Given the description of an element on the screen output the (x, y) to click on. 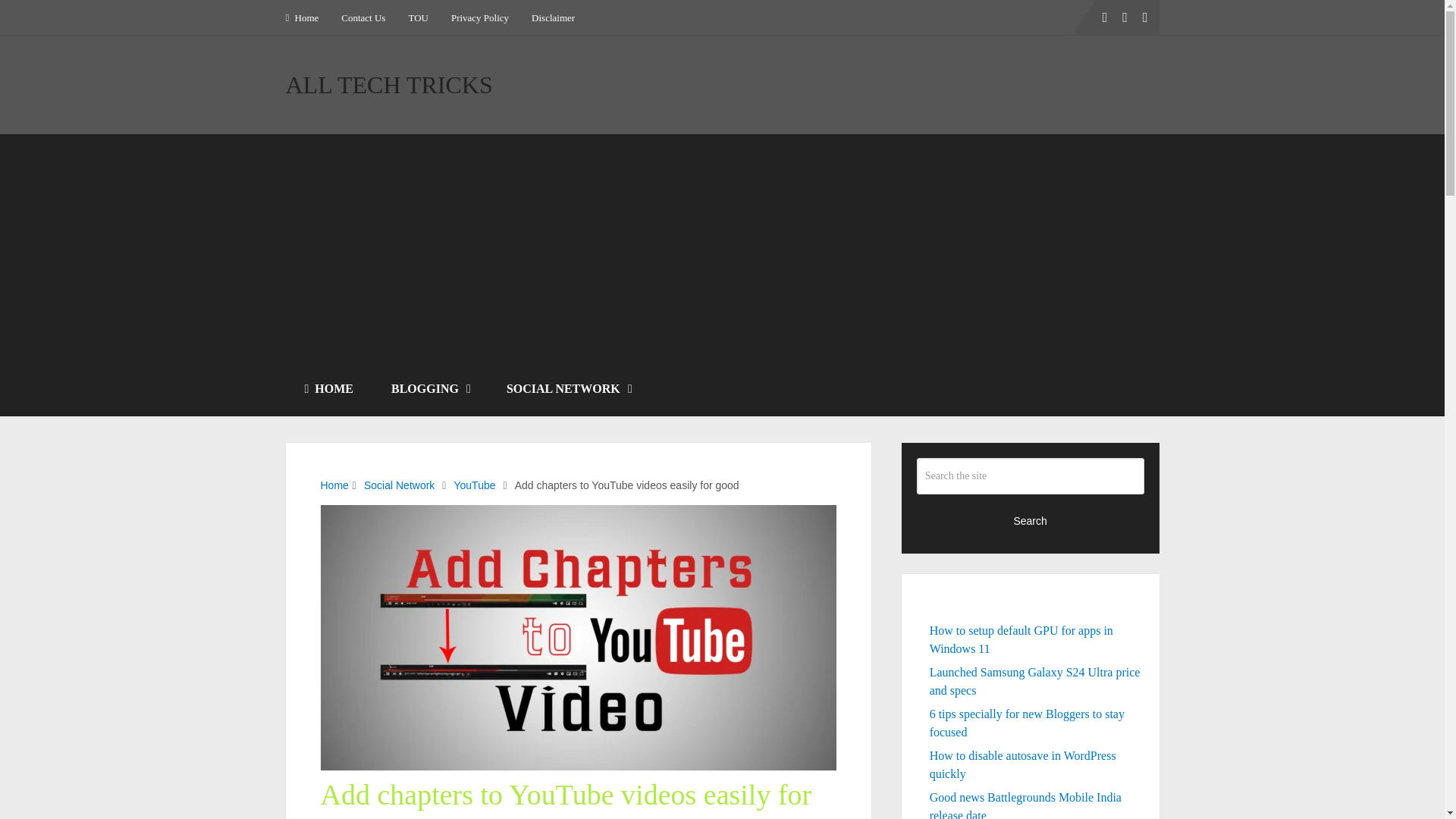
BLOGGING (429, 388)
Telegram (251, 312)
Tweet (251, 286)
Home (333, 485)
TOU (417, 17)
Disclaimer (552, 17)
Contact Us (363, 17)
ALL TECH TRICKS (388, 84)
Share (251, 233)
HOME (328, 388)
SOCIAL NETWORK (568, 388)
Tumblr (251, 365)
Home (307, 17)
Pin it (251, 339)
YouTube (473, 485)
